Given the description of an element on the screen output the (x, y) to click on. 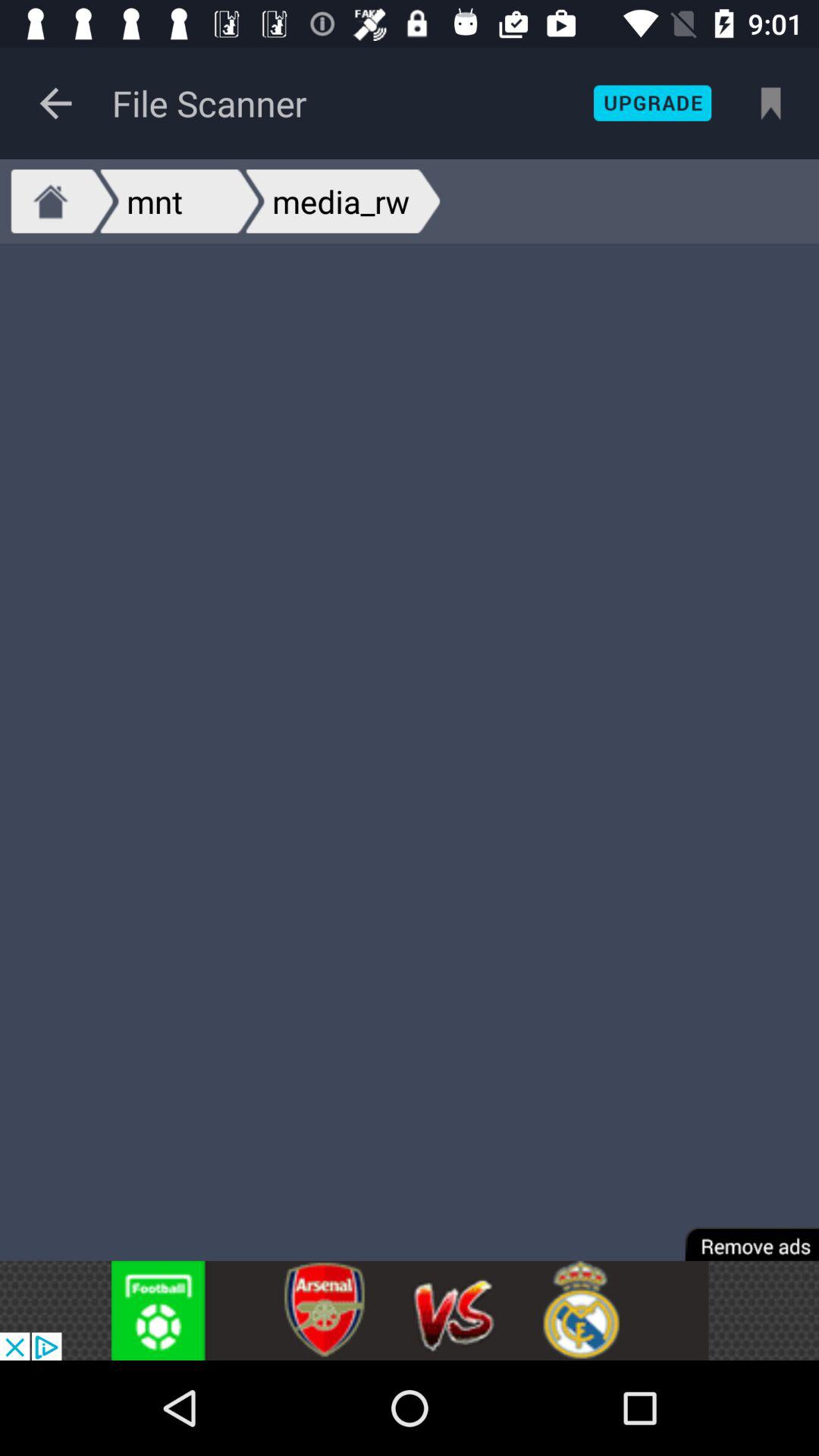
back icon (55, 103)
